Given the description of an element on the screen output the (x, y) to click on. 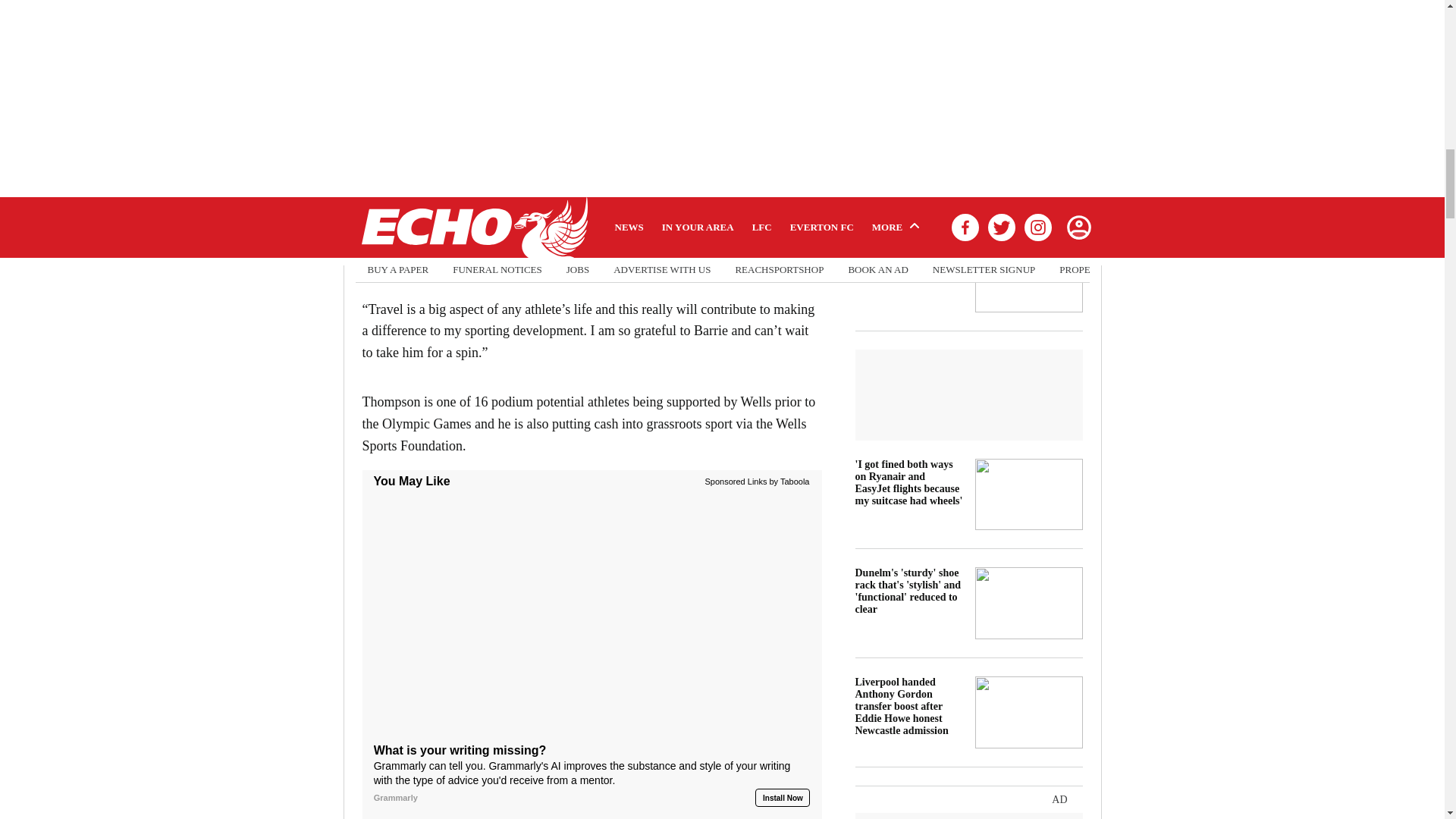
What is your writing missing? (592, 774)
What is your writing missing? (592, 616)
